Given the description of an element on the screen output the (x, y) to click on. 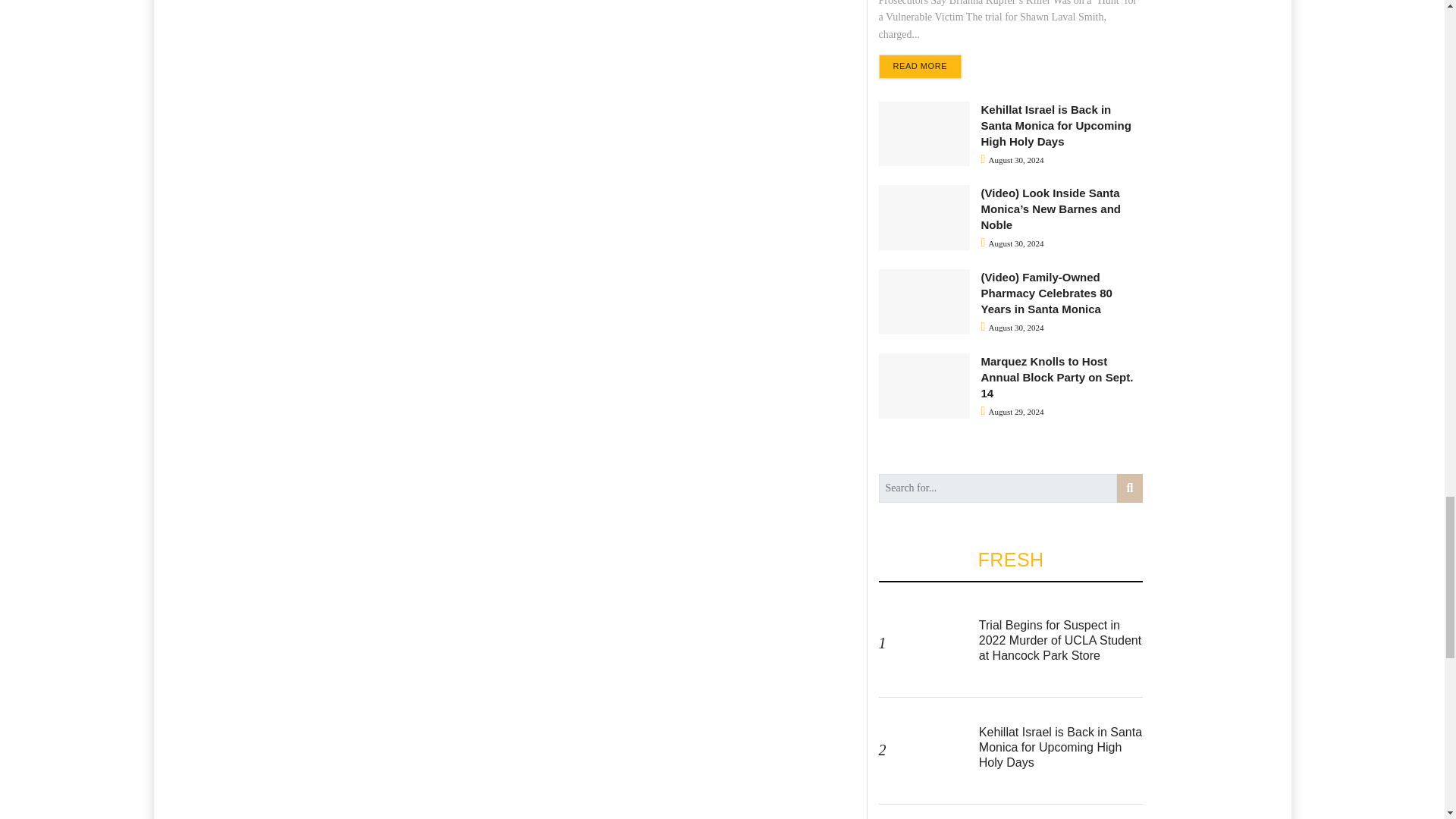
READ MORE (918, 66)
